Given the description of an element on the screen output the (x, y) to click on. 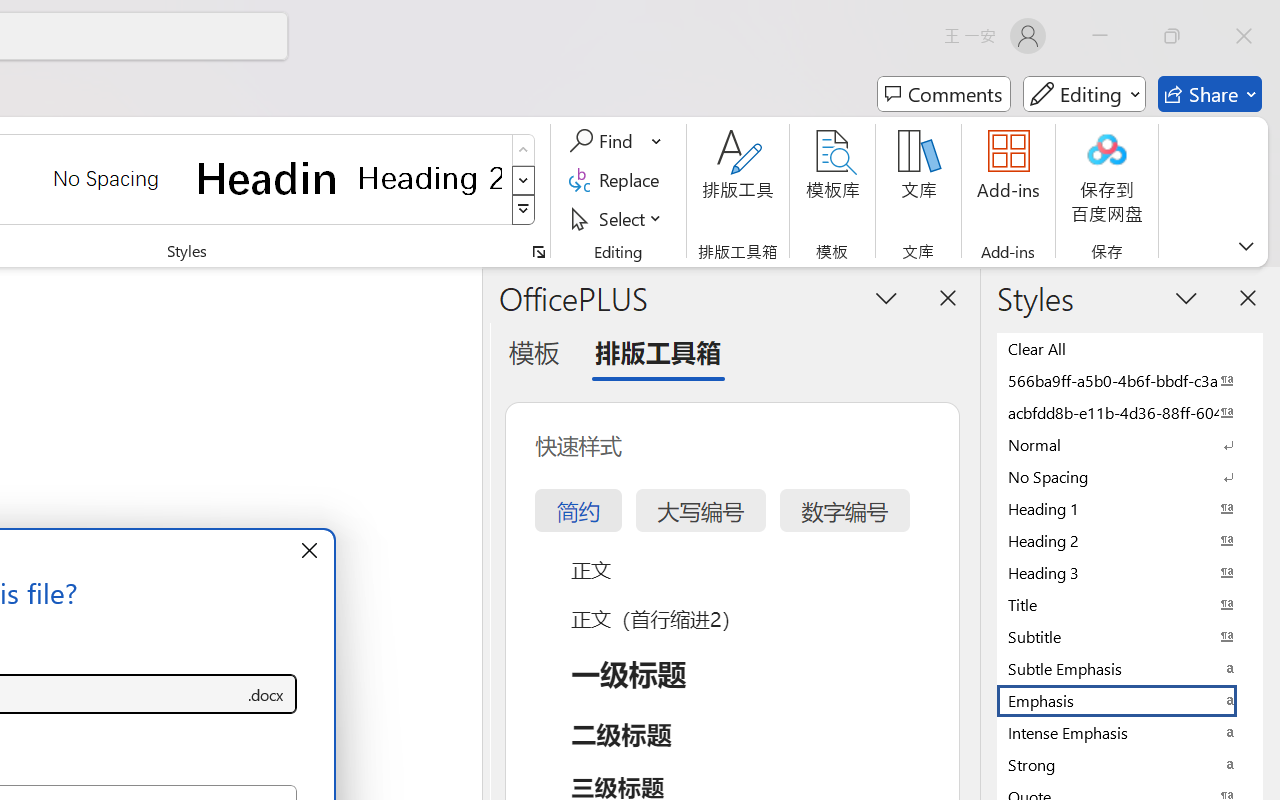
Styles (523, 209)
Normal (1130, 444)
